Given the description of an element on the screen output the (x, y) to click on. 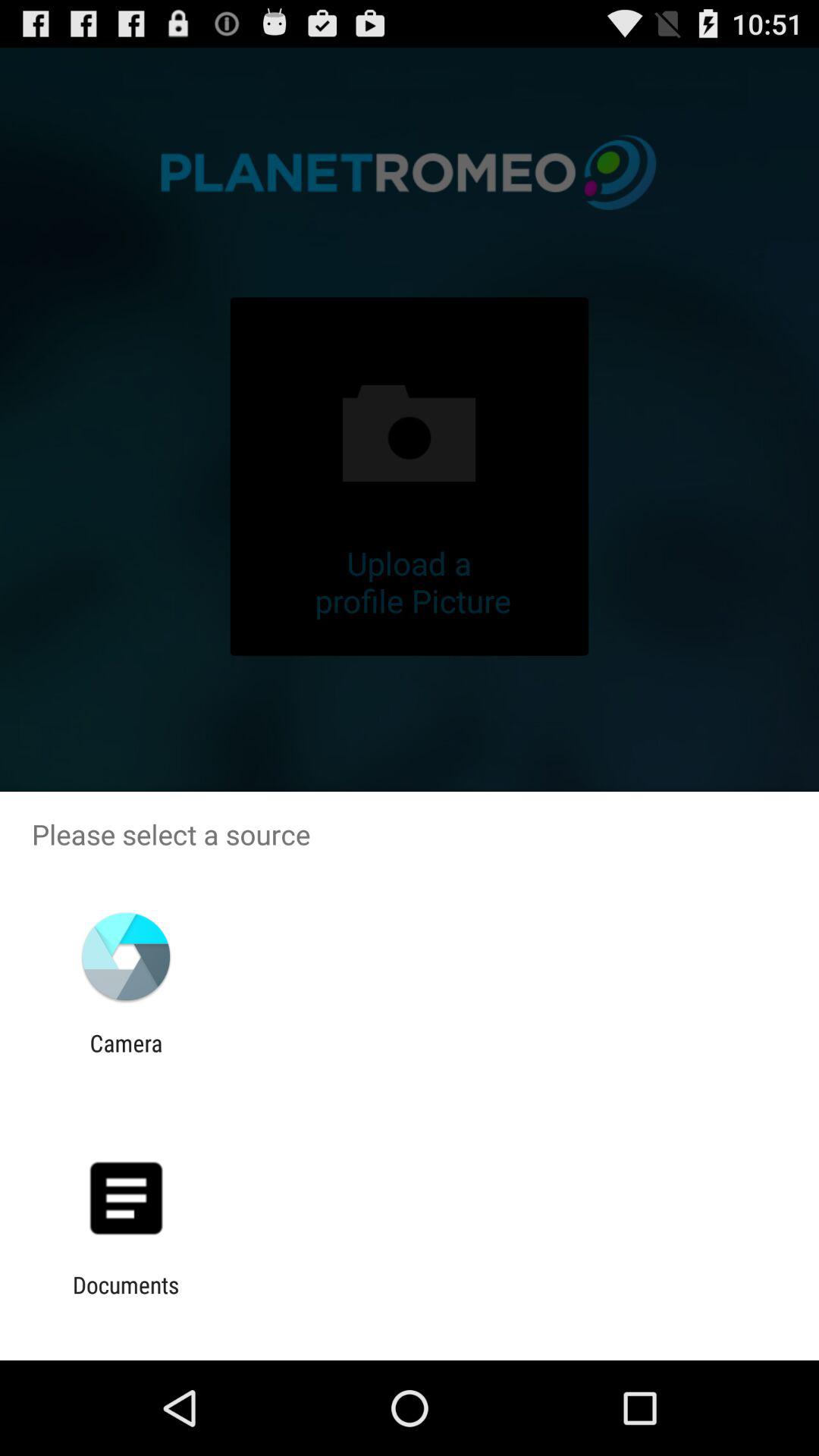
jump until the documents (125, 1298)
